Given the description of an element on the screen output the (x, y) to click on. 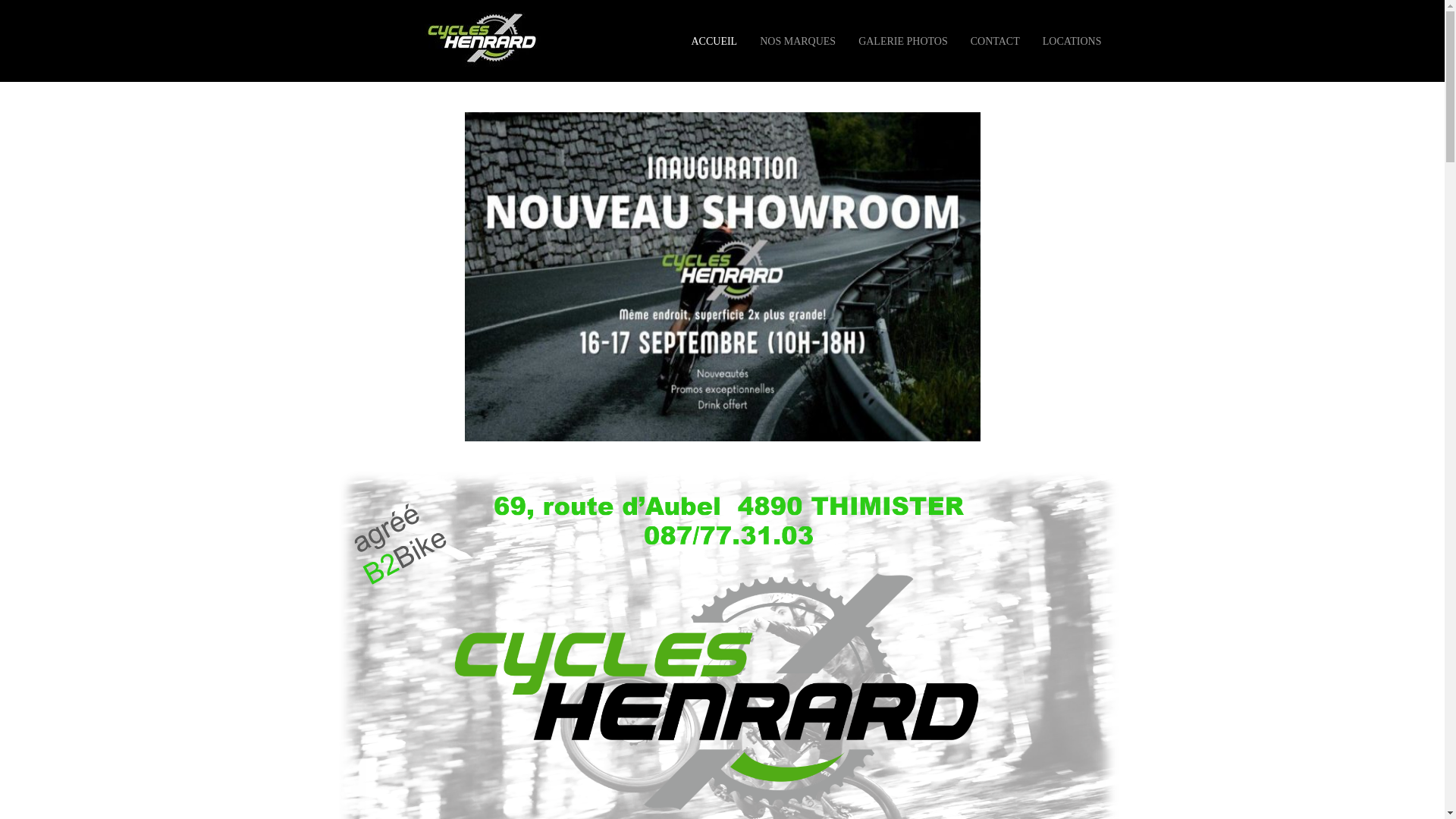
NOS MARQUES Element type: text (797, 41)
LOCATIONS Element type: text (1071, 41)
CONTACT Element type: text (994, 41)
Cycles Henrard Element type: hover (484, 70)
ALLER AU CONTENU Element type: text (723, 41)
ACCUEIL Element type: text (714, 41)
GALERIE PHOTOS Element type: text (902, 41)
